Given the description of an element on the screen output the (x, y) to click on. 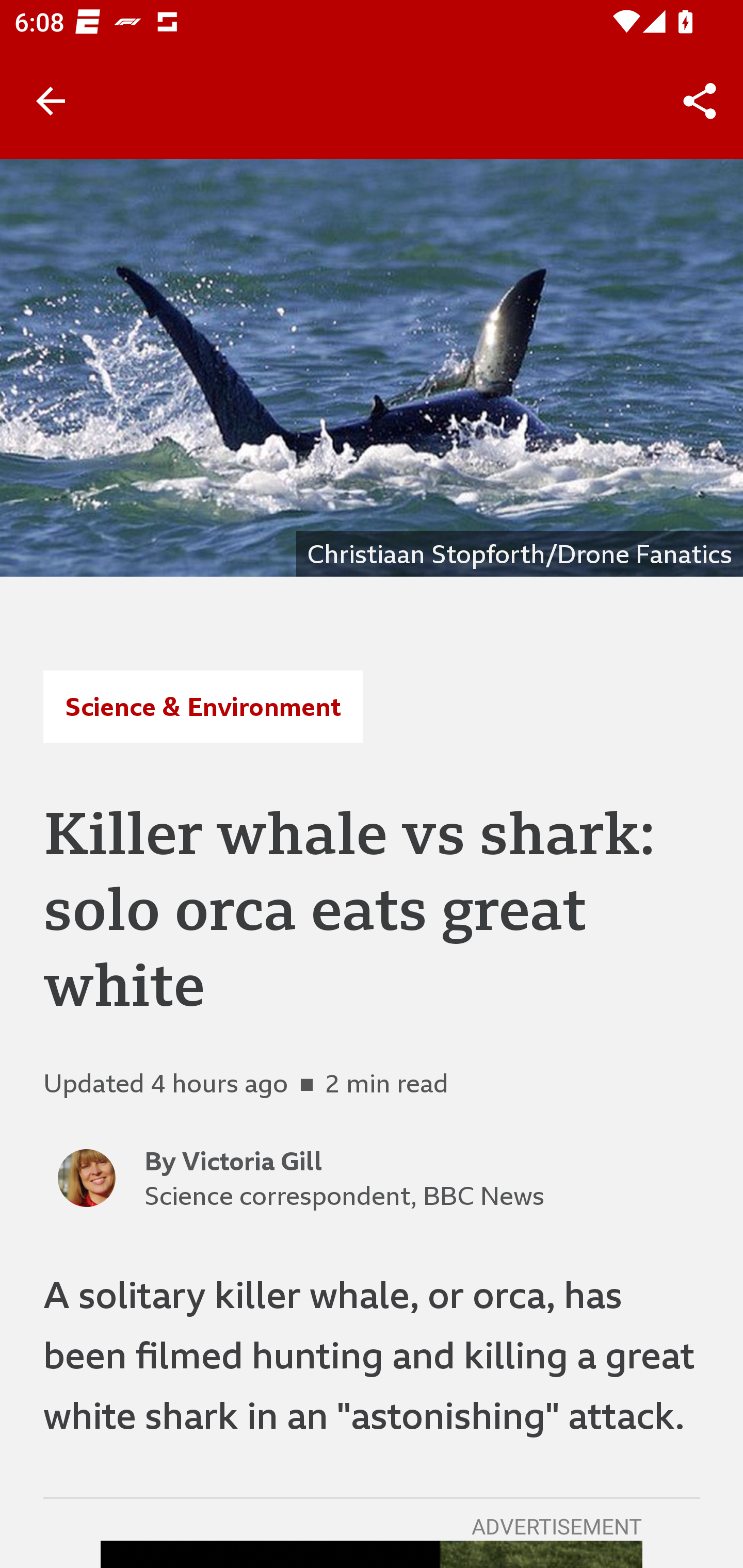
Back (50, 101)
Share (699, 101)
Science & Environment (202, 706)
